Given the description of an element on the screen output the (x, y) to click on. 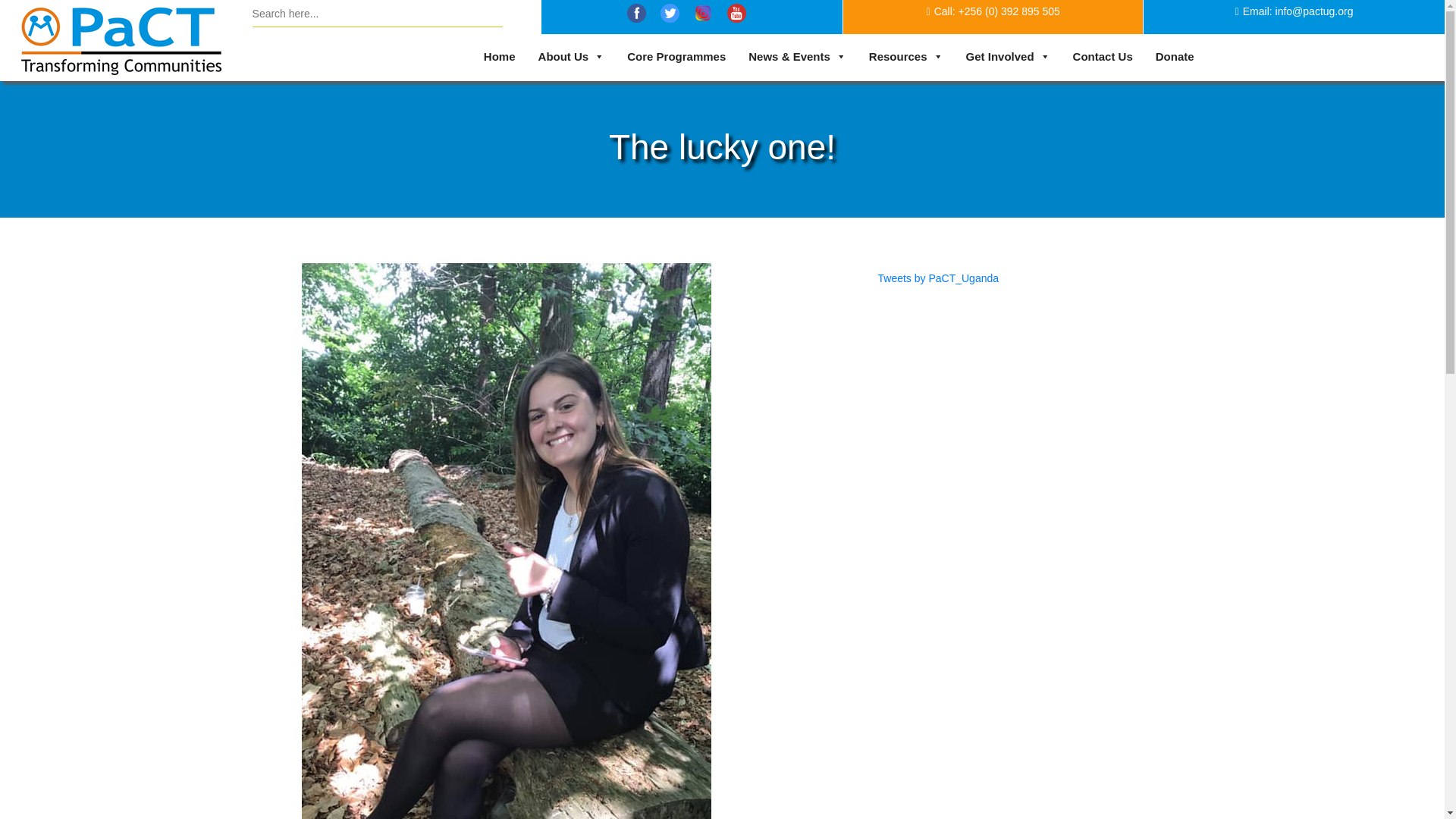
Youtube (735, 14)
Facebook (636, 14)
About Us (575, 56)
Contact Us (1106, 56)
Search Button (515, 13)
Resources (909, 56)
Home (503, 56)
Twitter (703, 14)
Donate (1178, 56)
Twitter (670, 14)
Core Programmes (680, 56)
Get Involved (1011, 56)
